Given the description of an element on the screen output the (x, y) to click on. 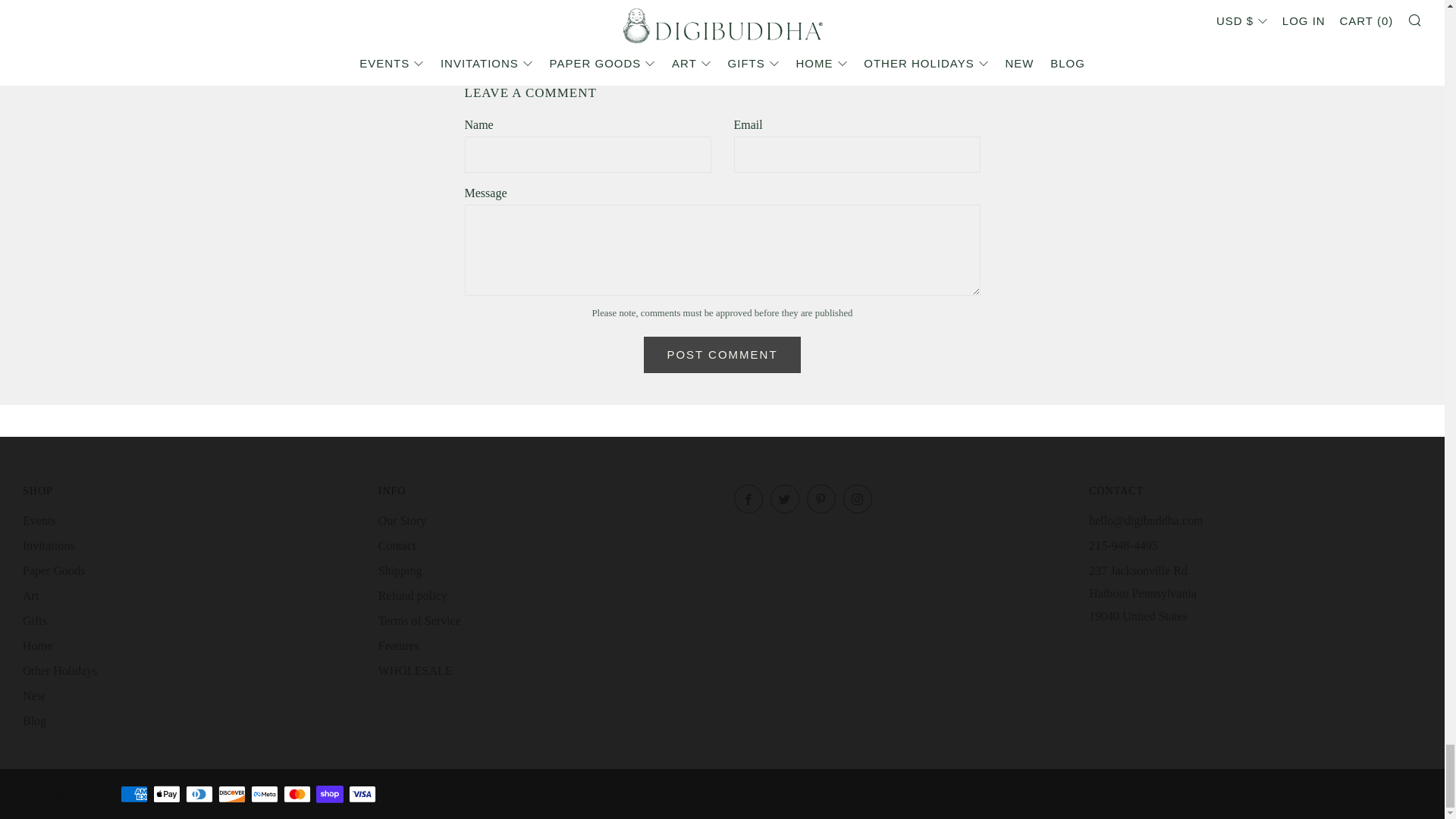
Post comment (721, 355)
